Given the description of an element on the screen output the (x, y) to click on. 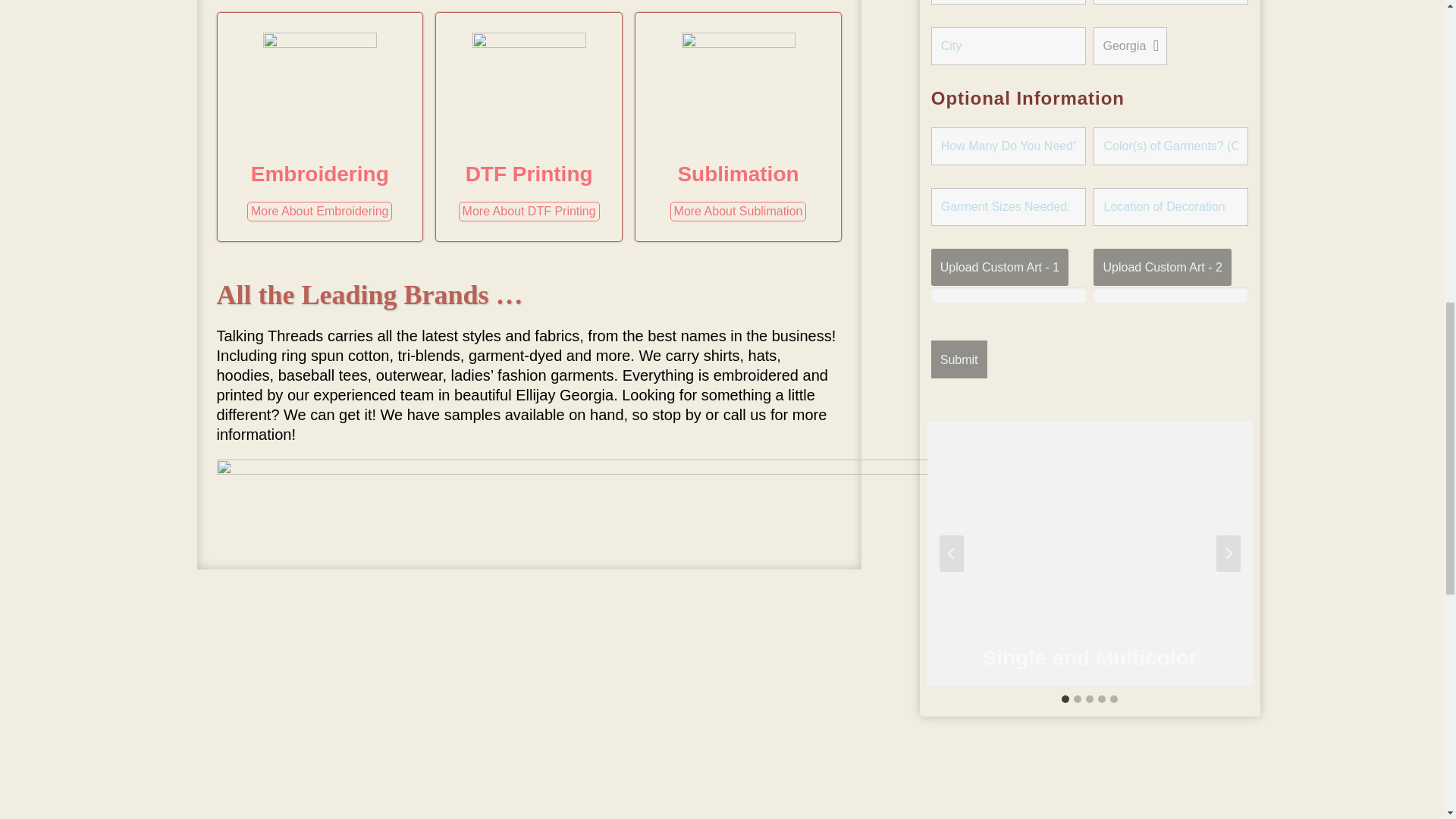
Submit (959, 359)
